Given the description of an element on the screen output the (x, y) to click on. 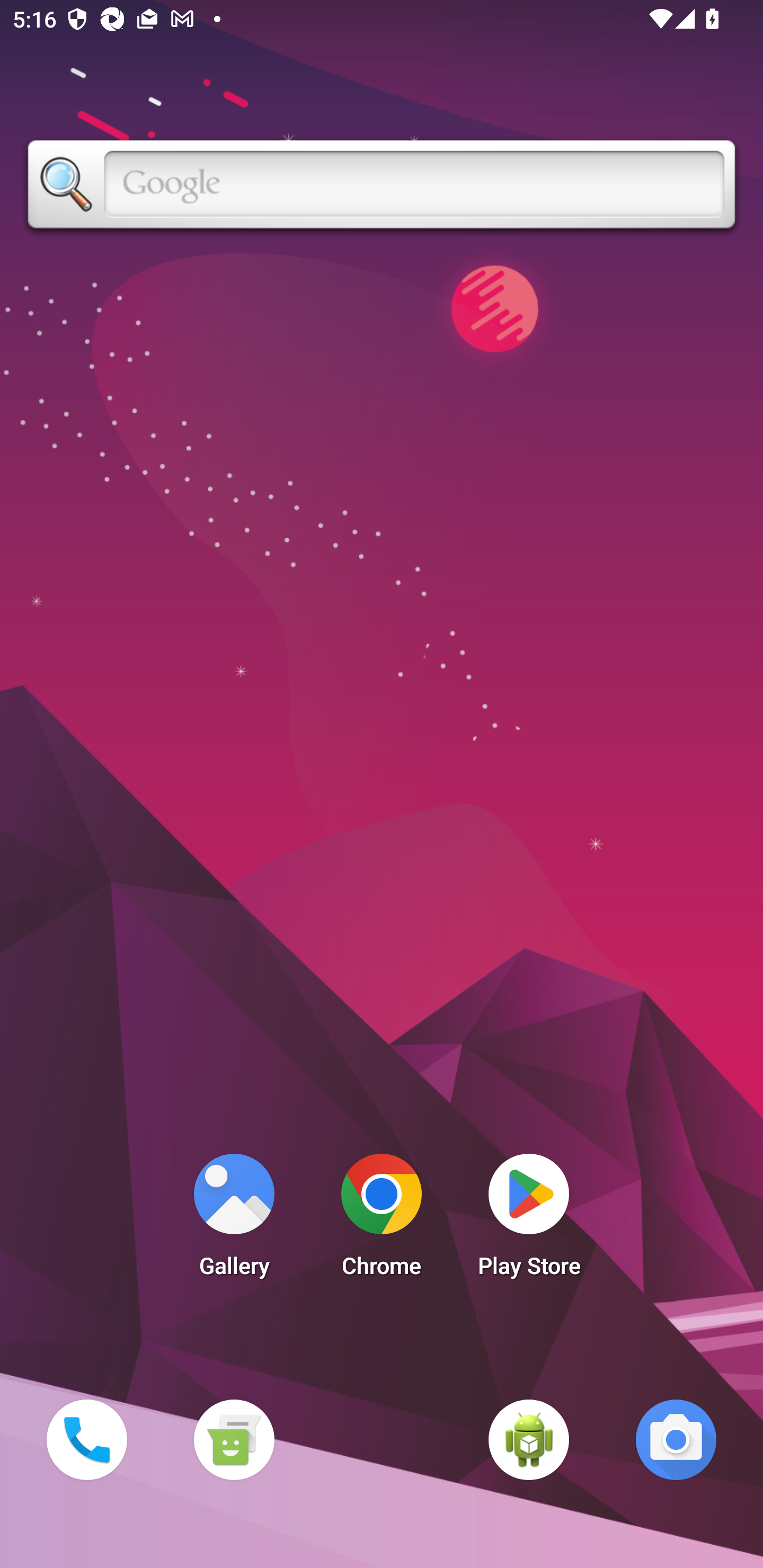
Gallery (233, 1220)
Chrome (381, 1220)
Play Store (528, 1220)
Phone (86, 1439)
Messaging (233, 1439)
WebView Browser Tester (528, 1439)
Camera (676, 1439)
